Given the description of an element on the screen output the (x, y) to click on. 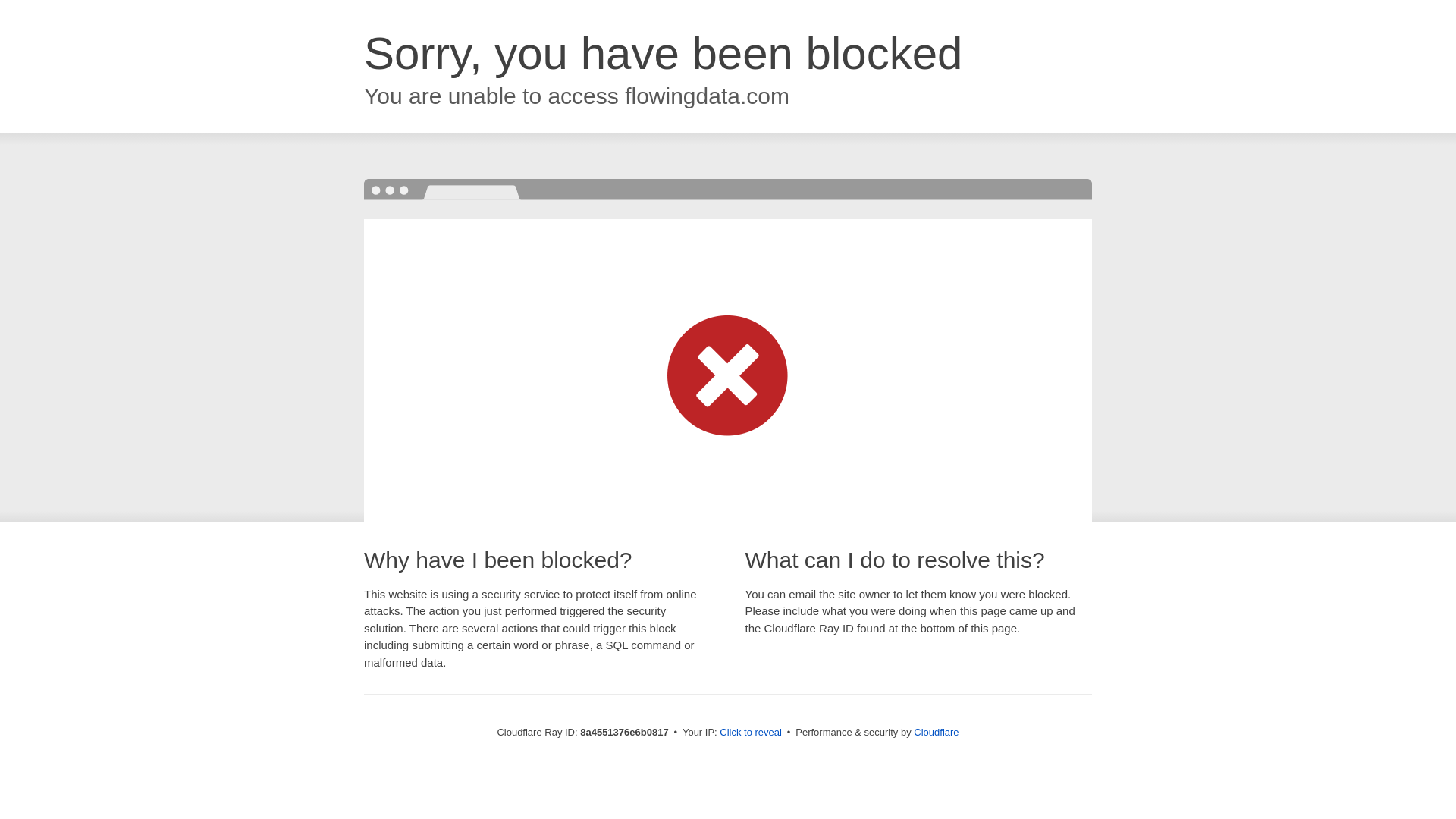
Click to reveal (750, 732)
Cloudflare (936, 731)
